Given the description of an element on the screen output the (x, y) to click on. 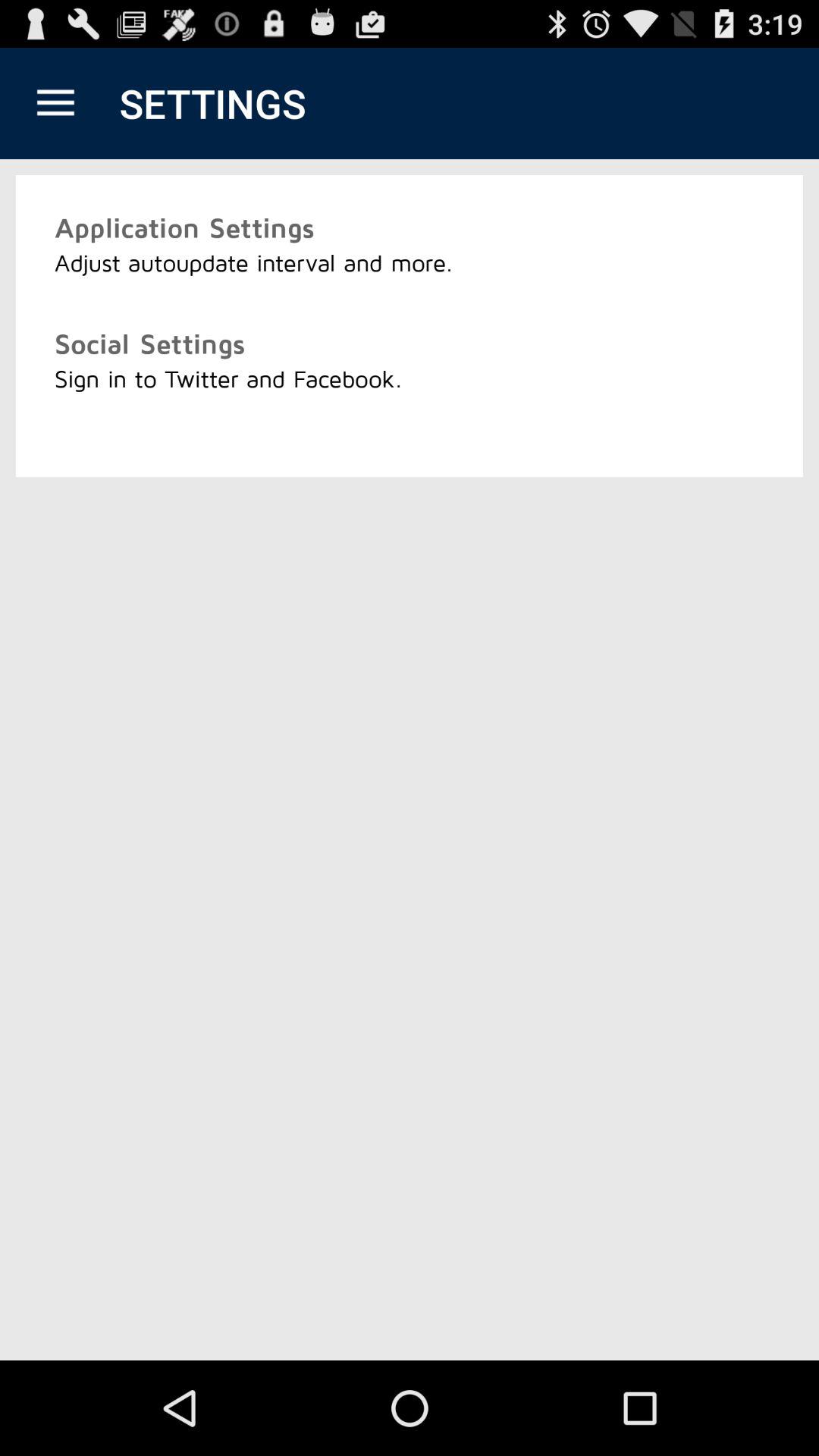
open app to the left of the settings icon (55, 103)
